Given the description of an element on the screen output the (x, y) to click on. 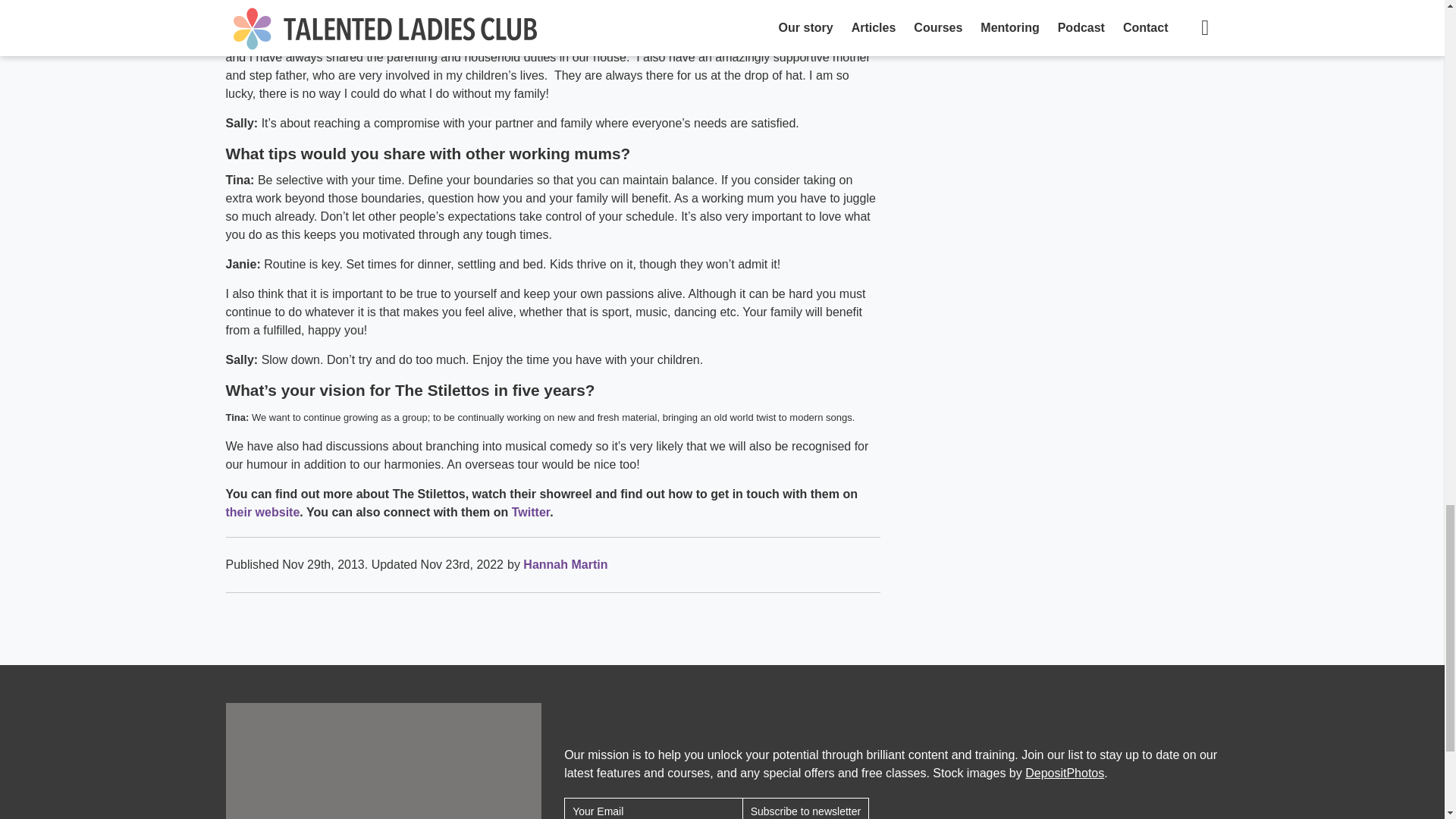
The Stilletos Twitter (531, 512)
The Stilletos (262, 512)
Subscribe to newsletter (805, 808)
